Given the description of an element on the screen output the (x, y) to click on. 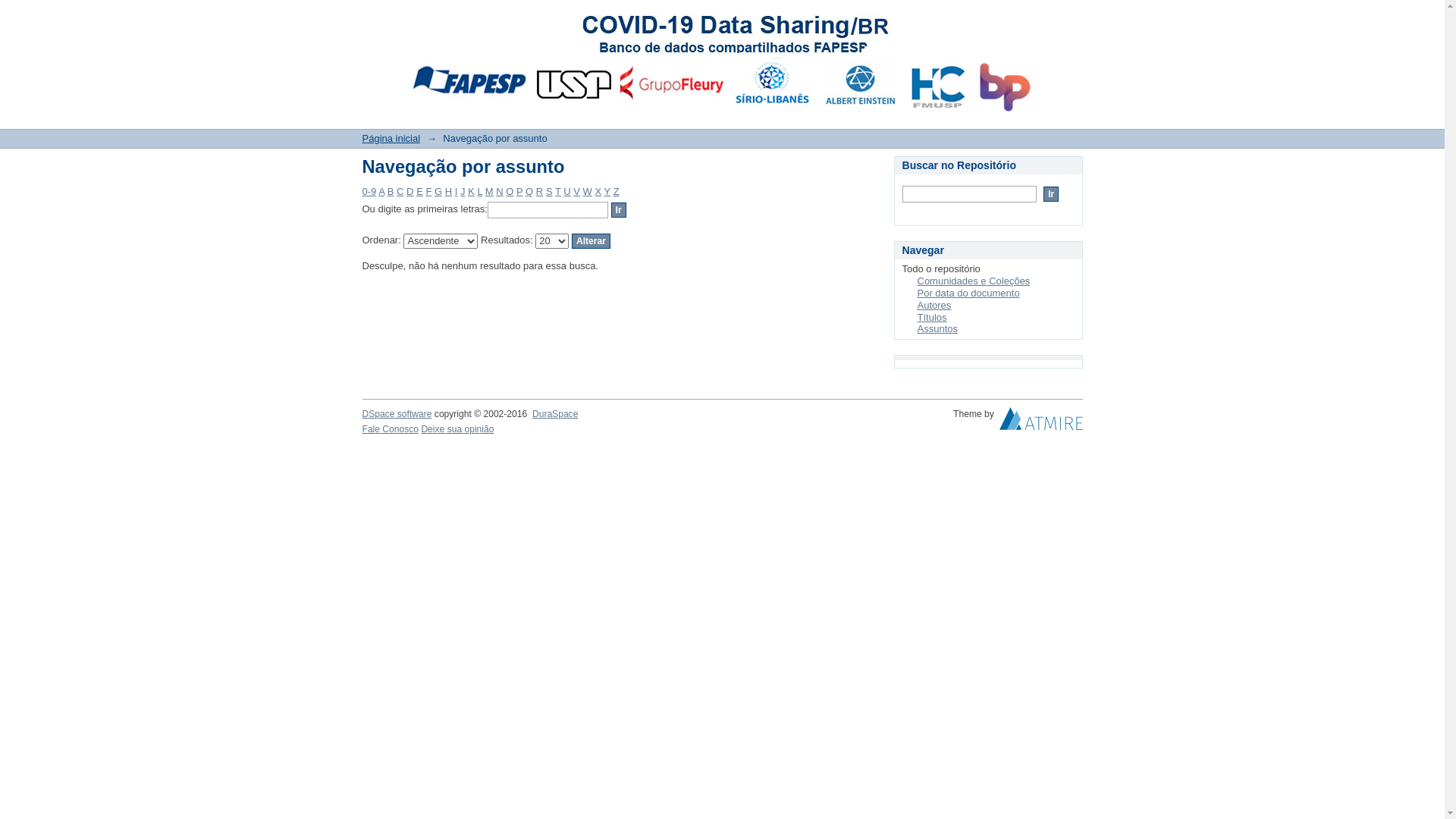
R Element type: text (539, 191)
DSpace software Element type: text (397, 413)
J Element type: text (462, 191)
Alterar Element type: text (590, 240)
Atmire NV Element type: hover (1040, 422)
F Element type: text (428, 191)
Ir Element type: text (1050, 193)
S Element type: text (549, 191)
V Element type: text (576, 191)
Autores Element type: text (934, 304)
Q Element type: text (529, 191)
N Element type: text (498, 191)
  Element type: text (1040, 422)
Fale Conosco Element type: text (390, 428)
D Element type: text (409, 191)
Por data do documento Element type: text (968, 292)
G Element type: text (438, 191)
T Element type: text (558, 191)
Assuntos Element type: text (937, 328)
E Element type: text (419, 191)
W Element type: text (587, 191)
H Element type: text (448, 191)
P Element type: text (519, 191)
Z Element type: text (616, 191)
M Element type: text (489, 191)
I Element type: text (456, 191)
K Element type: text (470, 191)
U Element type: text (566, 191)
Ir Element type: text (618, 209)
X Element type: text (597, 191)
0-9 Element type: text (369, 191)
Y Element type: text (607, 191)
A Element type: text (381, 191)
B Element type: text (390, 191)
C Element type: text (399, 191)
DuraSpace Element type: text (554, 413)
O Element type: text (509, 191)
L Element type: text (479, 191)
